Given the description of an element on the screen output the (x, y) to click on. 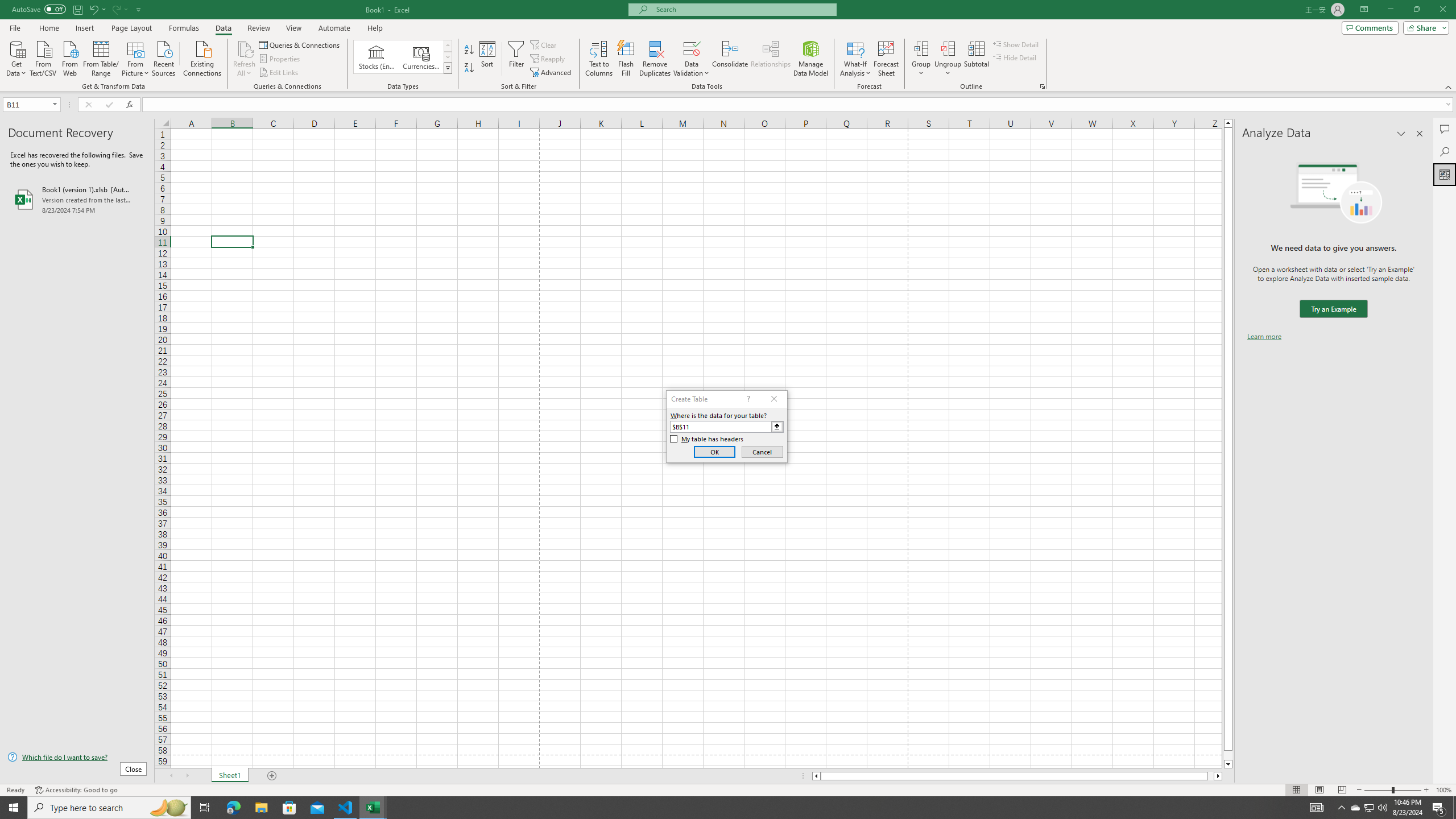
Get Data (16, 57)
We need data to give you answers. Try an Example (1333, 308)
Clear (544, 44)
Consolidate... (729, 58)
